Given the description of an element on the screen output the (x, y) to click on. 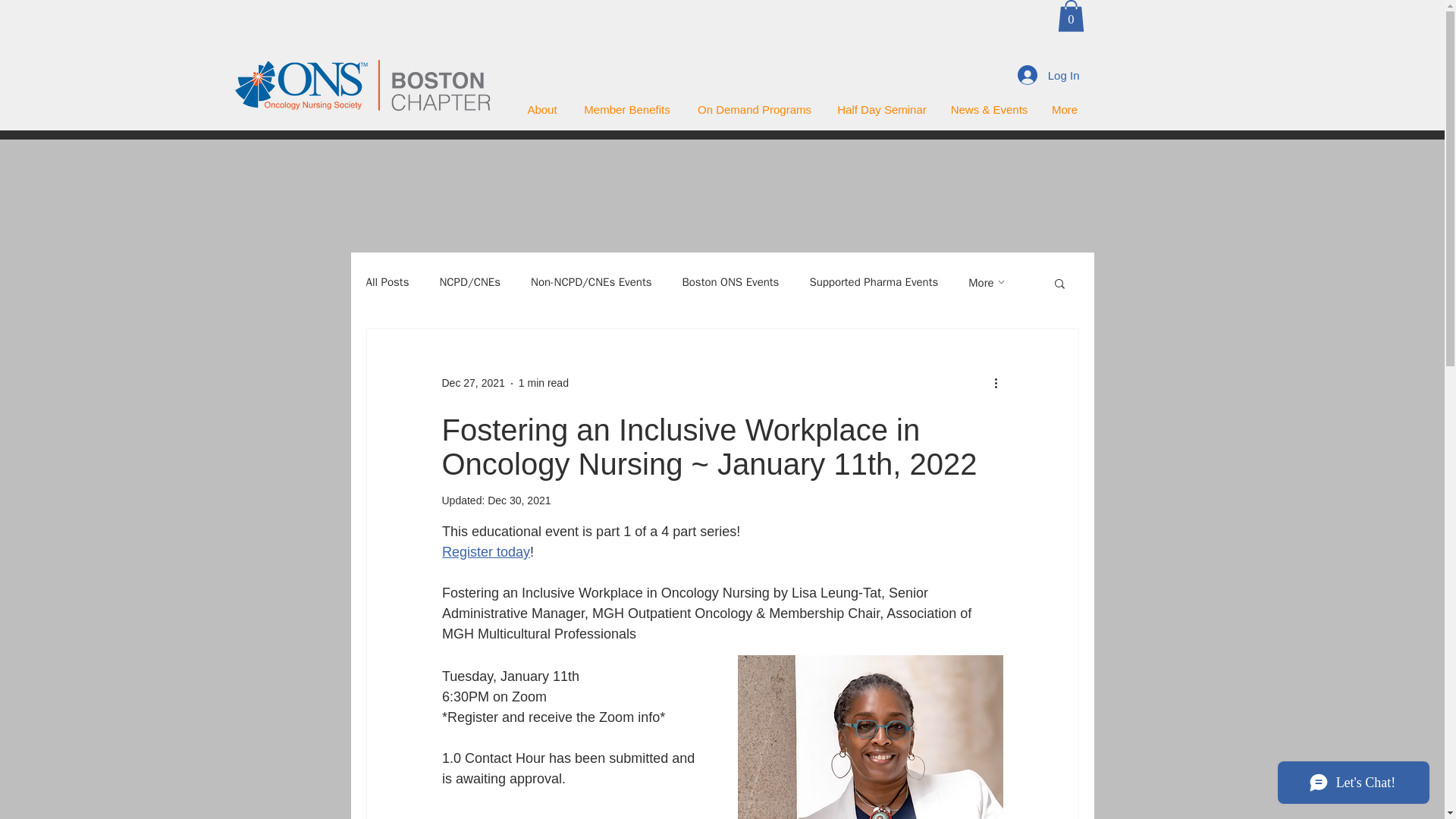
Dec 27, 2021 (472, 382)
Log In (1048, 74)
1 min read (543, 382)
Member Benefits (627, 108)
Boston ONS Events (729, 282)
Half Day Seminar (882, 108)
On Demand Programs (754, 108)
Supported Pharma Events (873, 282)
Register today (485, 551)
Dec 30, 2021 (518, 500)
